Given the description of an element on the screen output the (x, y) to click on. 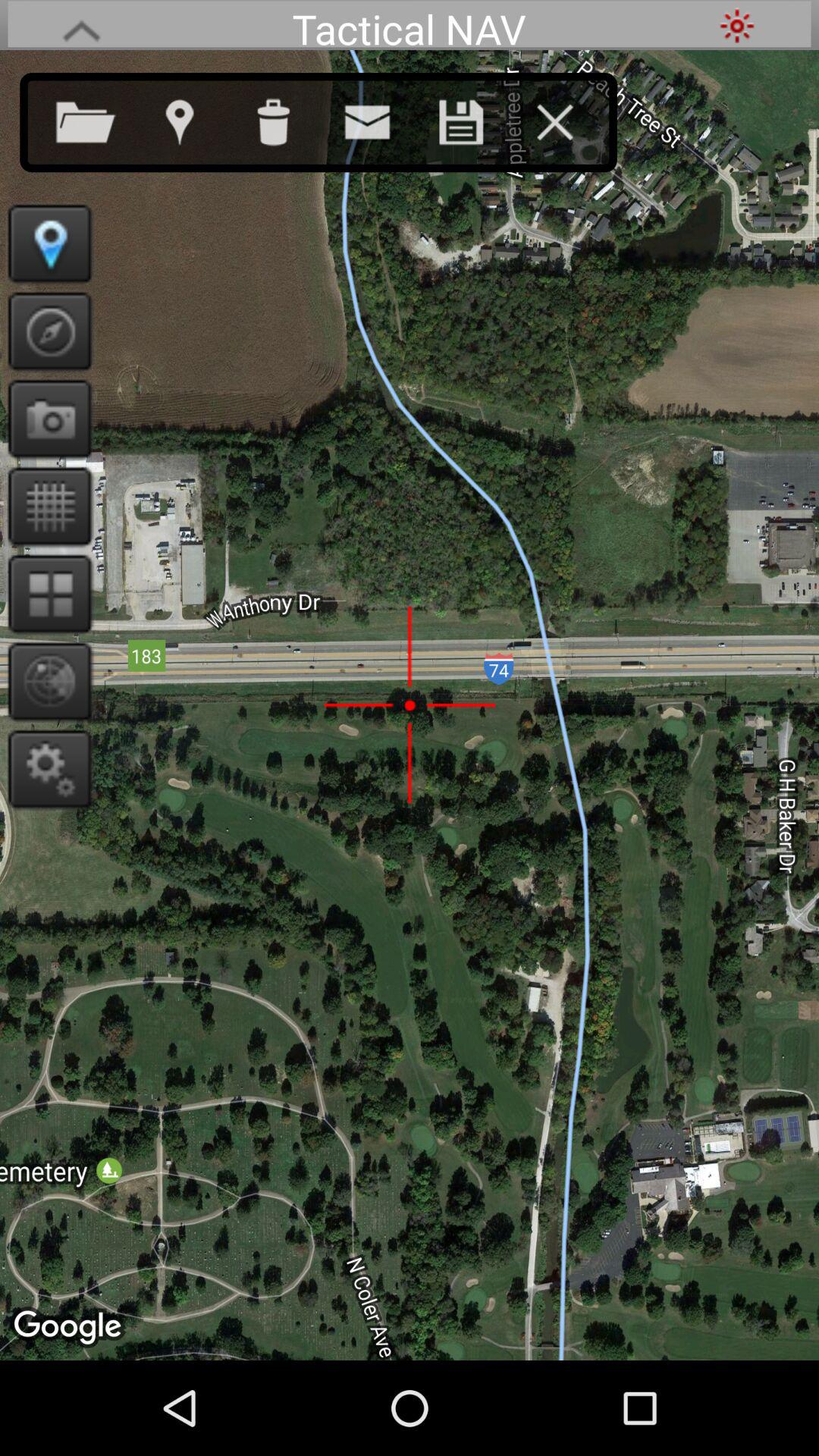
turn on the icon next to the tactical nav icon (81, 25)
